Given the description of an element on the screen output the (x, y) to click on. 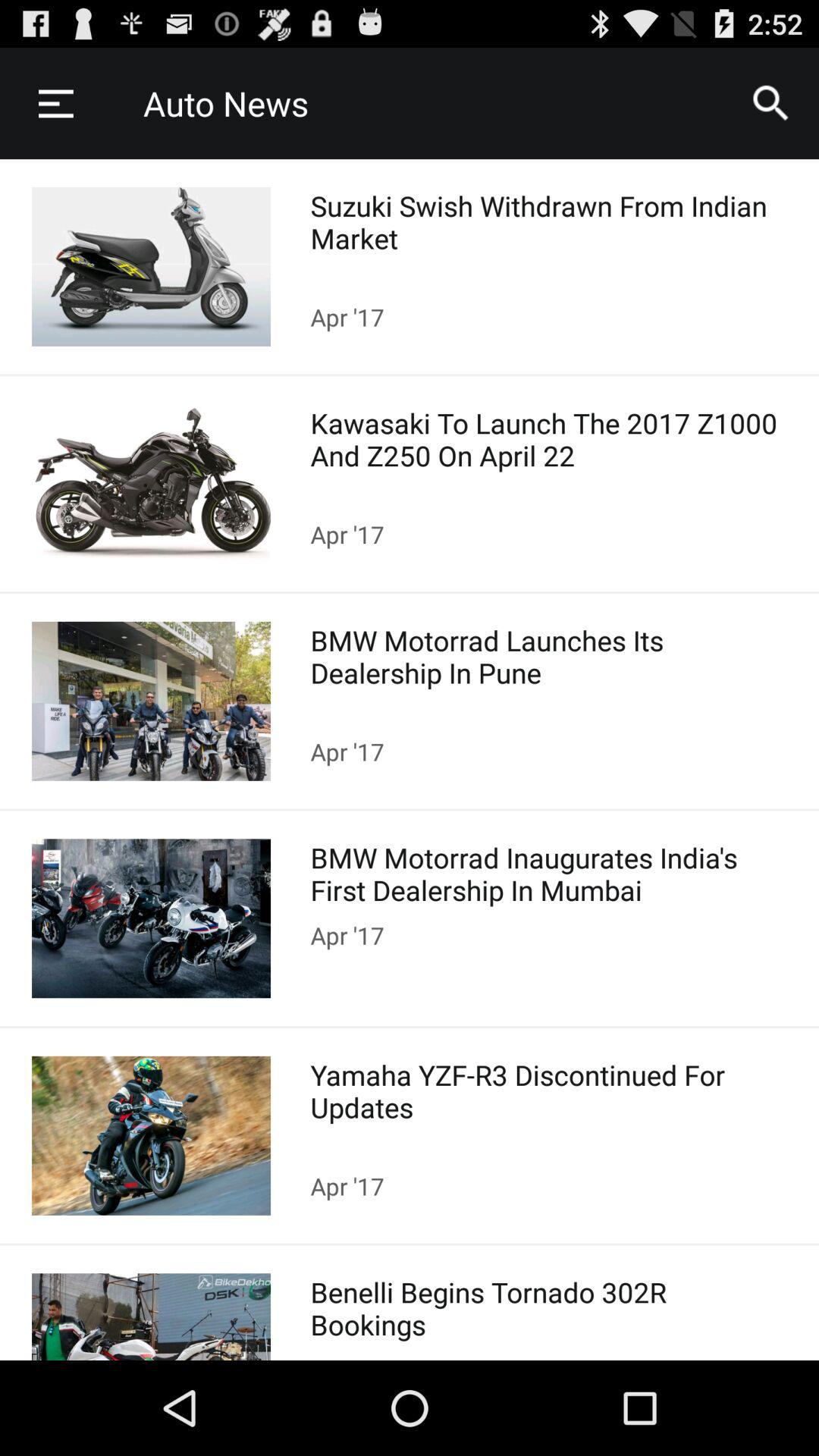
select the third image from the top (151, 700)
select the image left to the text yamaha yzfr3 discontinued for updates (151, 1136)
click on the pic below activa (151, 483)
choose the search symbol (771, 103)
